Given the description of an element on the screen output the (x, y) to click on. 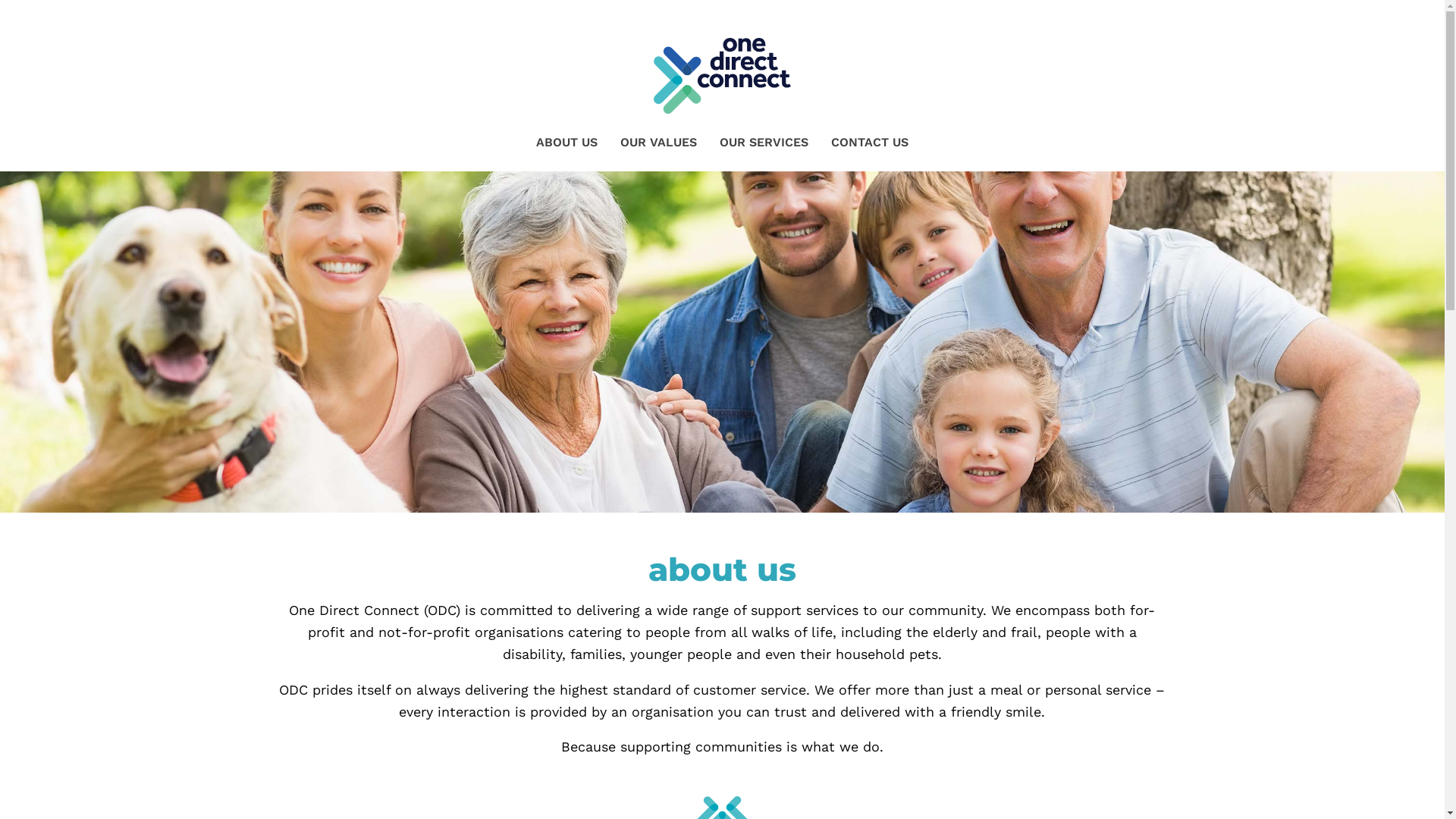
ABOUT US Element type: text (566, 142)
OUR SERVICES Element type: text (763, 142)
OUR VALUES Element type: text (658, 142)
CONTACT US Element type: text (869, 142)
